Given the description of an element on the screen output the (x, y) to click on. 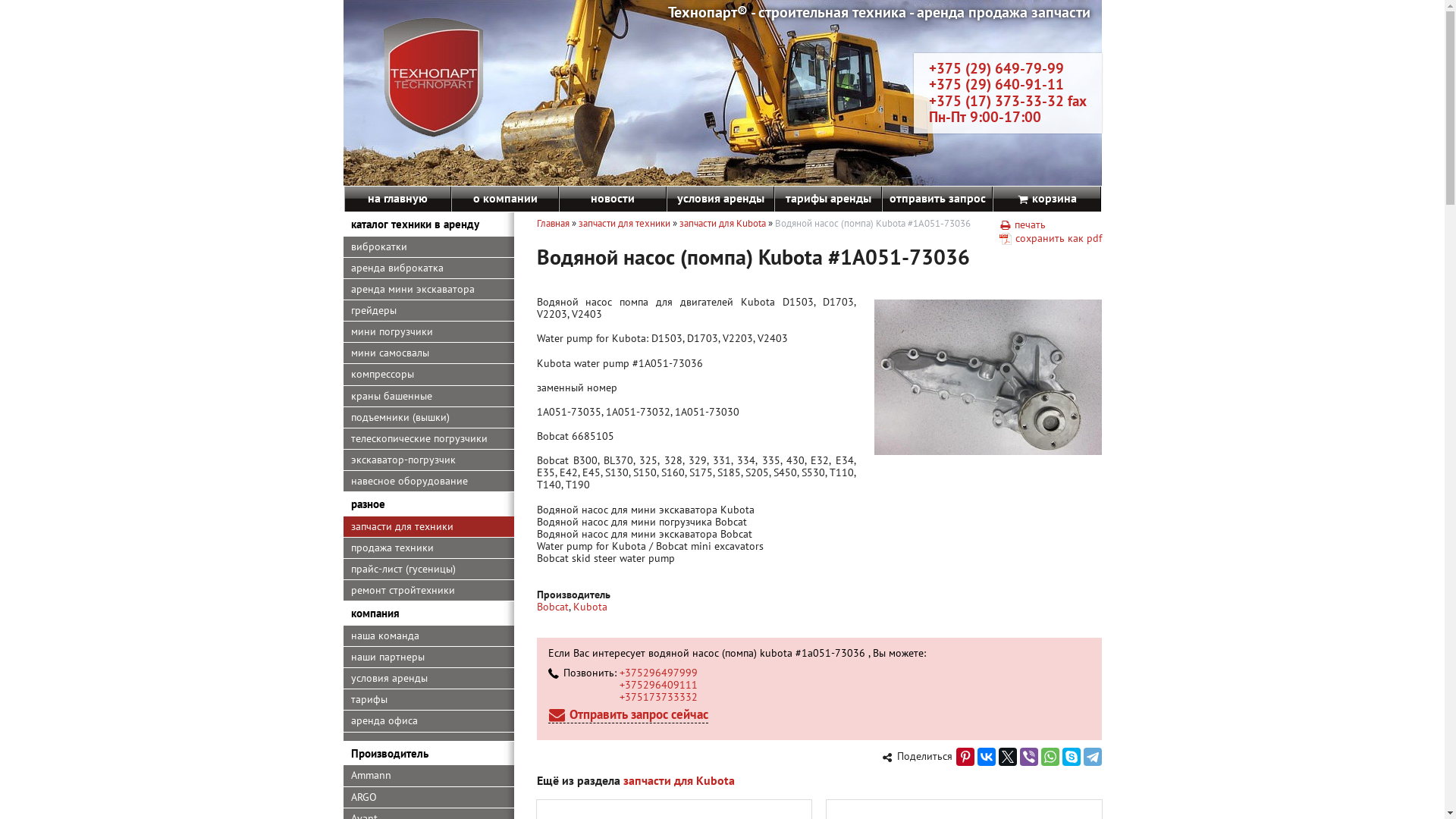
Viber Element type: hover (1028, 756)
WhatsApp Element type: hover (1049, 756)
+375 (17) 373-33-32 fax Element type: text (1006, 100)
+375173733332 Element type: text (657, 696)
ARGO Element type: text (427, 797)
+375296497999 Element type: text (657, 672)
Pinterest Element type: hover (964, 756)
+375 (29) 640-91-11 Element type: text (995, 84)
Telegram Element type: hover (1091, 756)
+375 (29) 649-79-99 Element type: text (995, 68)
+375296409111 Element type: text (657, 684)
Skype Element type: hover (1070, 756)
Kubota Element type: text (590, 606)
Bobcat Element type: text (552, 606)
Ammann Element type: text (427, 775)
Twitter Element type: hover (1006, 756)
